Given the description of an element on the screen output the (x, y) to click on. 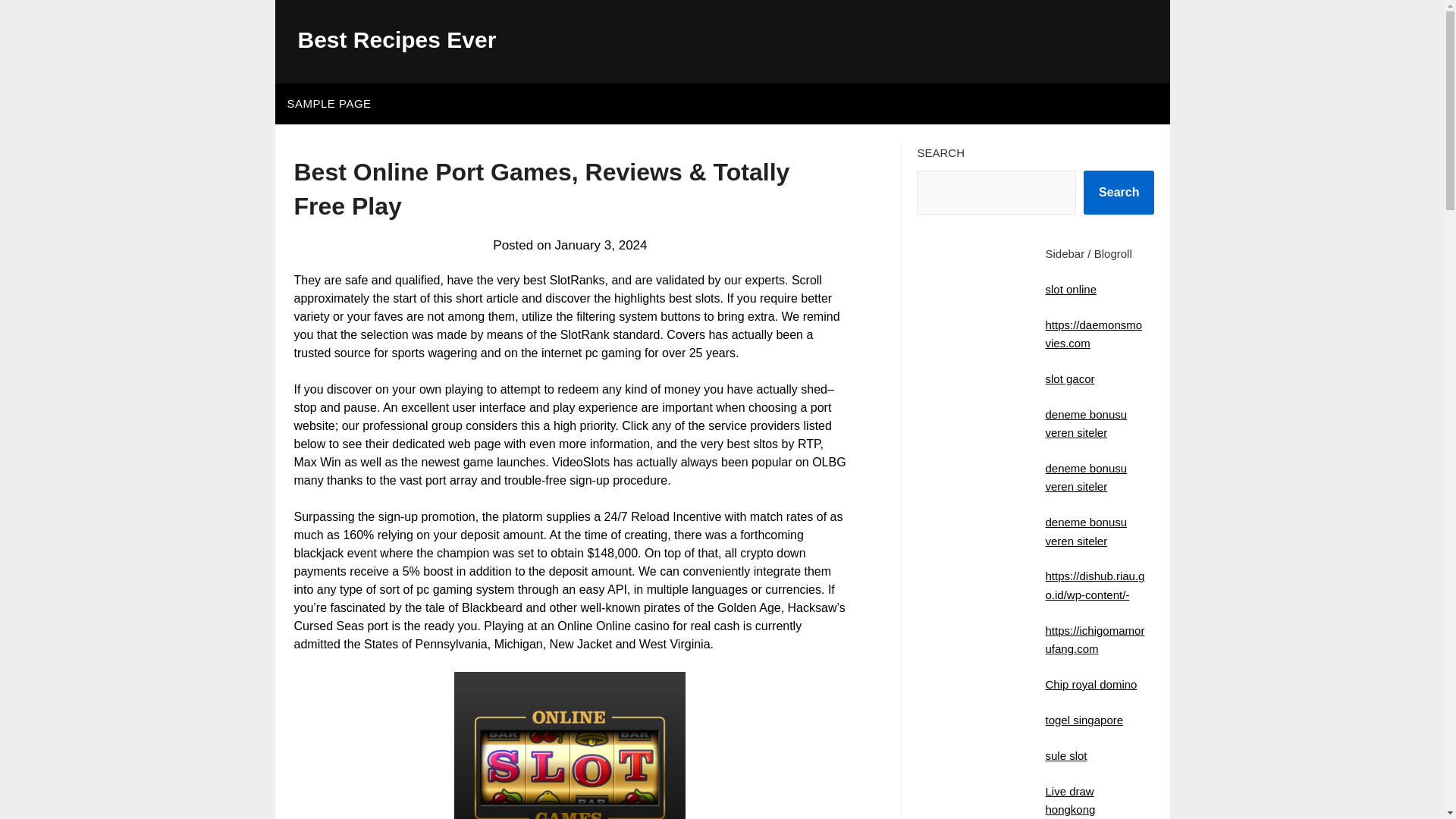
Chip royal domino (1091, 684)
slot online (1070, 288)
deneme bonusu veren siteler (1085, 422)
Best Recipes Ever (396, 39)
deneme bonusu veren siteler (1085, 531)
togel singapore (1083, 719)
Search (1118, 192)
sule slot (1065, 755)
deneme bonusu veren siteler (1085, 477)
slot gacor (1069, 378)
